Given the description of an element on the screen output the (x, y) to click on. 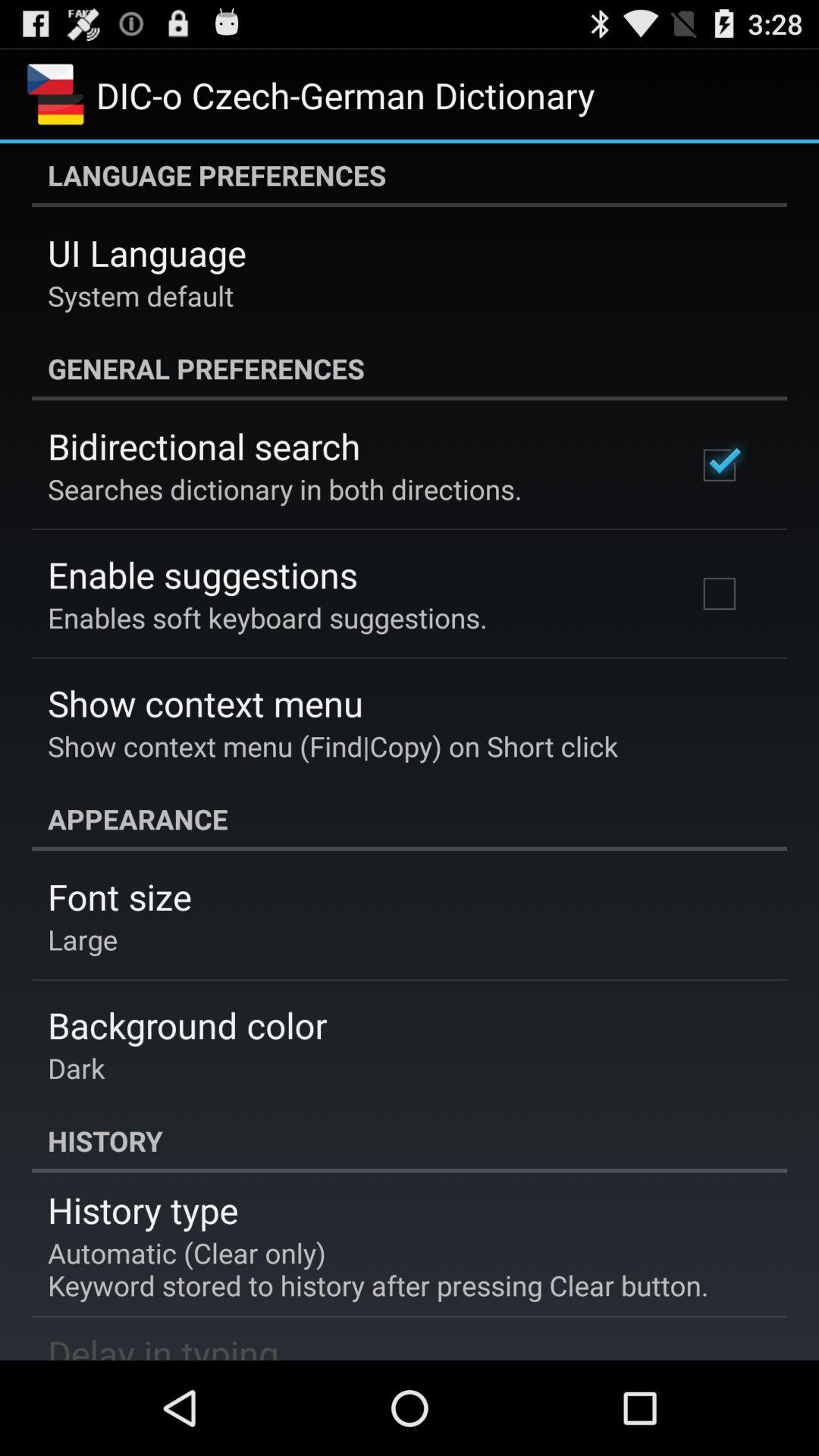
choose app above the searches dictionary in (203, 446)
